Given the description of an element on the screen output the (x, y) to click on. 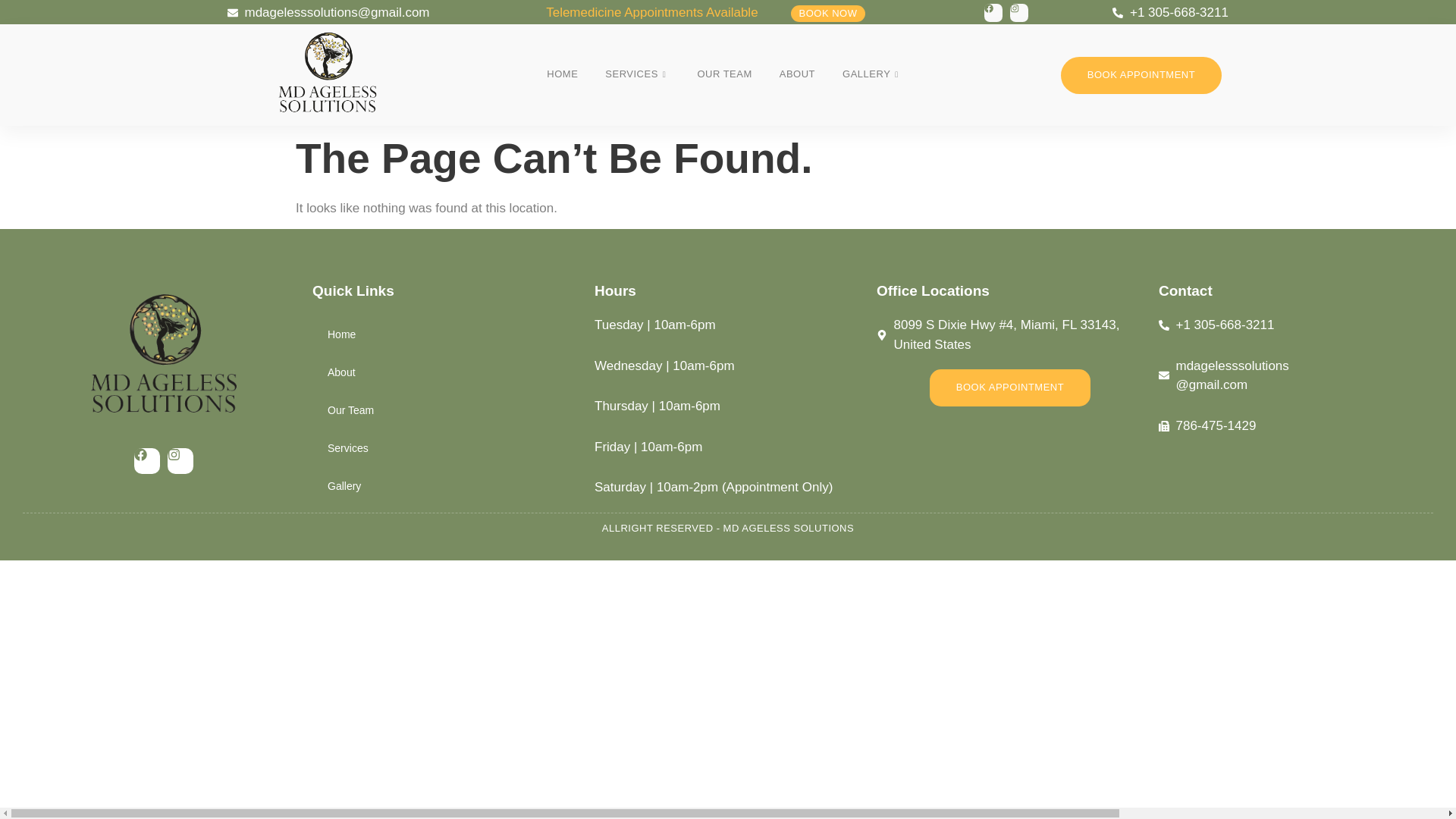
SERVICES (637, 75)
Telemedicine Appointments Available (651, 12)
BOOK NOW (828, 13)
